Given the description of an element on the screen output the (x, y) to click on. 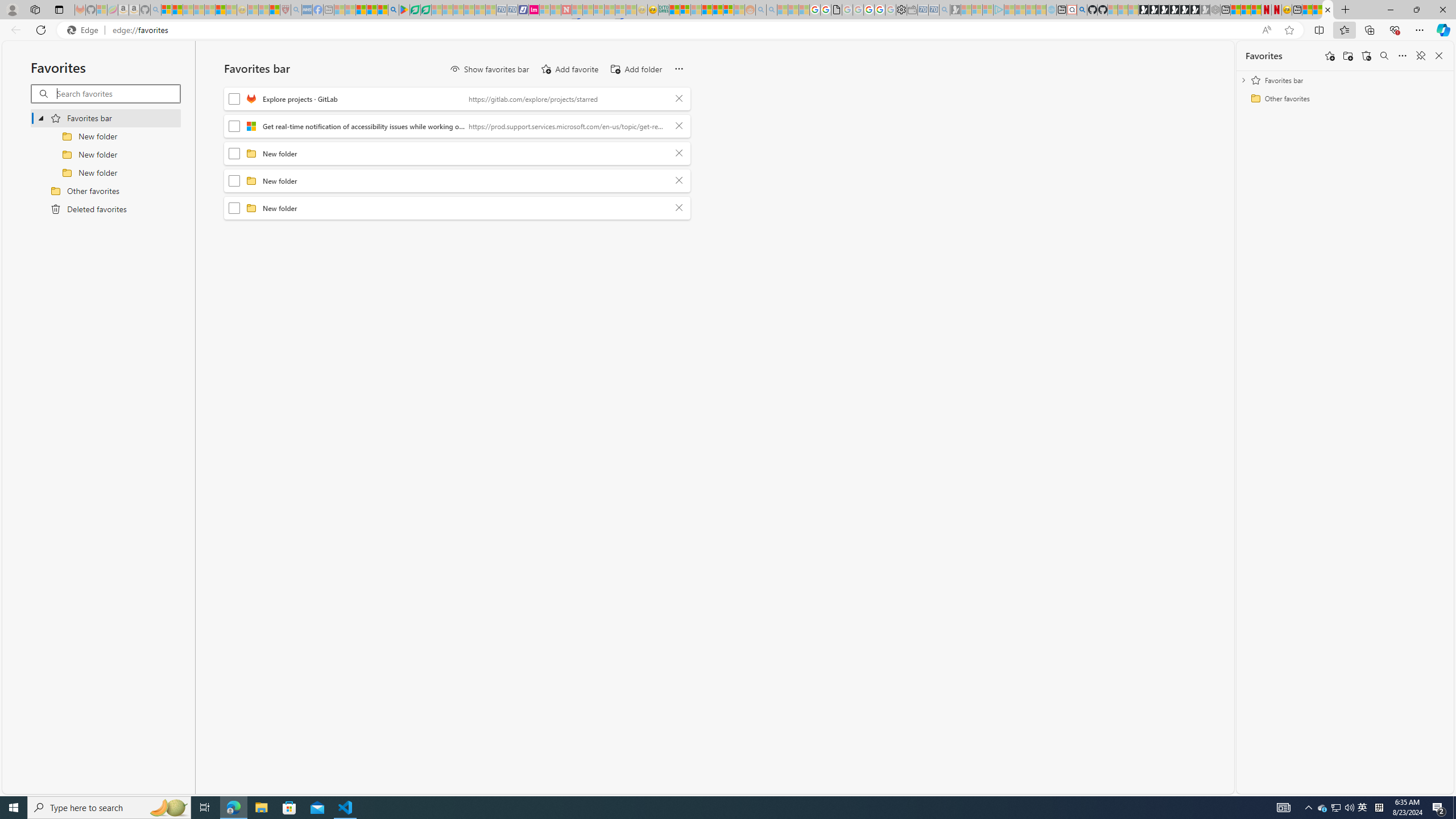
Close tab (1327, 9)
Microsoft Start (360, 9)
Copilot (Ctrl+Shift+.) (1442, 29)
New folder (465, 207)
Favorites (1263, 55)
Cheap Hotels - Save70.com - Sleeping (512, 9)
Add this page to favorites (1330, 55)
Close favorites (1439, 55)
14 Common Myths Debunked By Scientific Facts - Sleeping (588, 9)
